Given the description of an element on the screen output the (x, y) to click on. 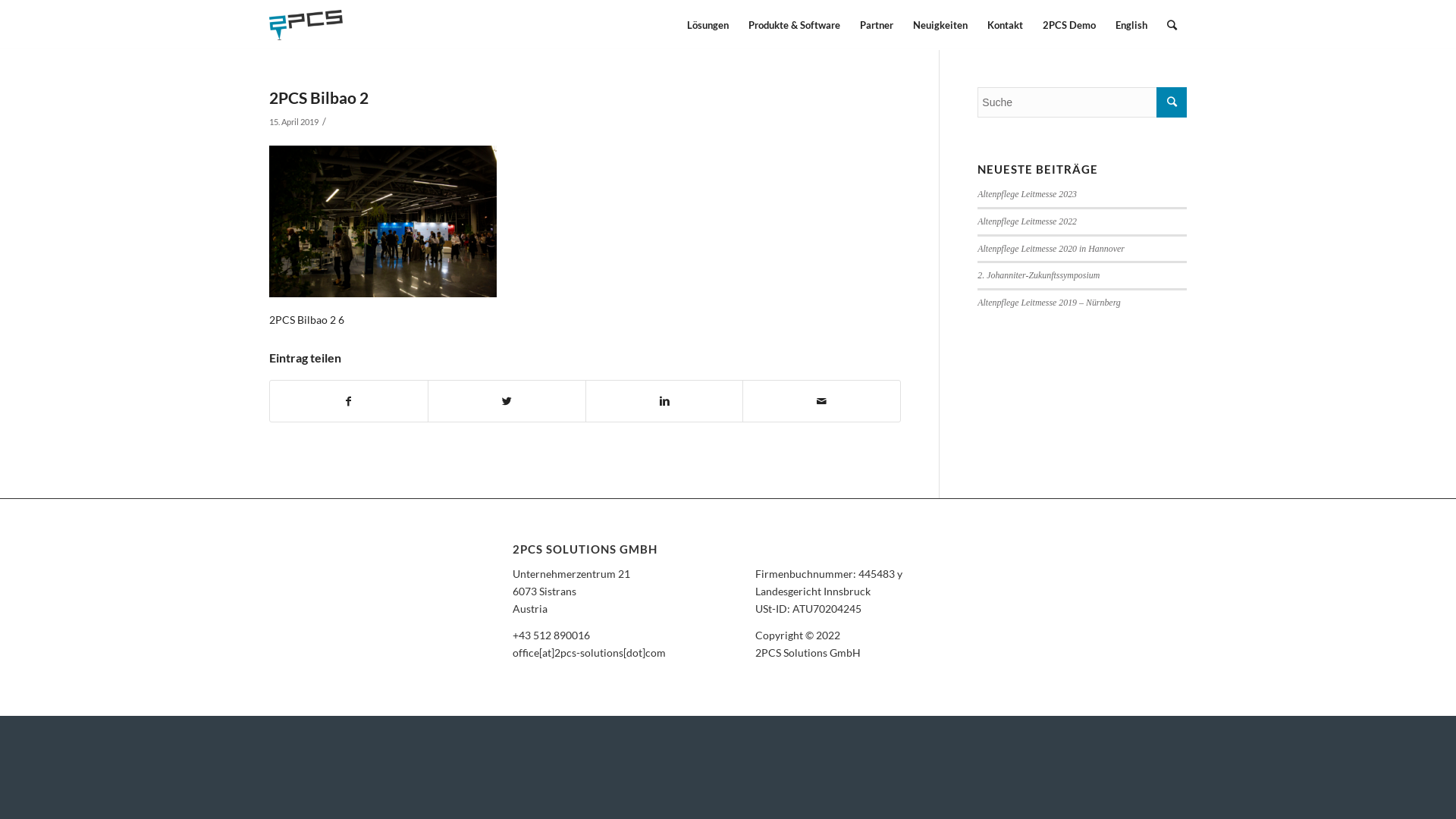
Partner Element type: text (876, 24)
Produkte & Software Element type: text (794, 24)
2PCS Bilbao 2 Element type: text (318, 96)
Neuigkeiten Element type: text (940, 24)
Altenpflege Leitmesse 2022 Element type: text (1026, 221)
2PCS Bilbao 2 5 Element type: hover (382, 221)
Altenpflege Leitmesse 2020 in Hannover Element type: text (1050, 248)
2. Johanniter-Zukunftssymposium Element type: text (1038, 274)
Kontakt Element type: text (1004, 24)
English Element type: text (1131, 24)
2PCS Demo Element type: text (1068, 24)
Altenpflege Leitmesse 2023 Element type: text (1026, 193)
